Given the description of an element on the screen output the (x, y) to click on. 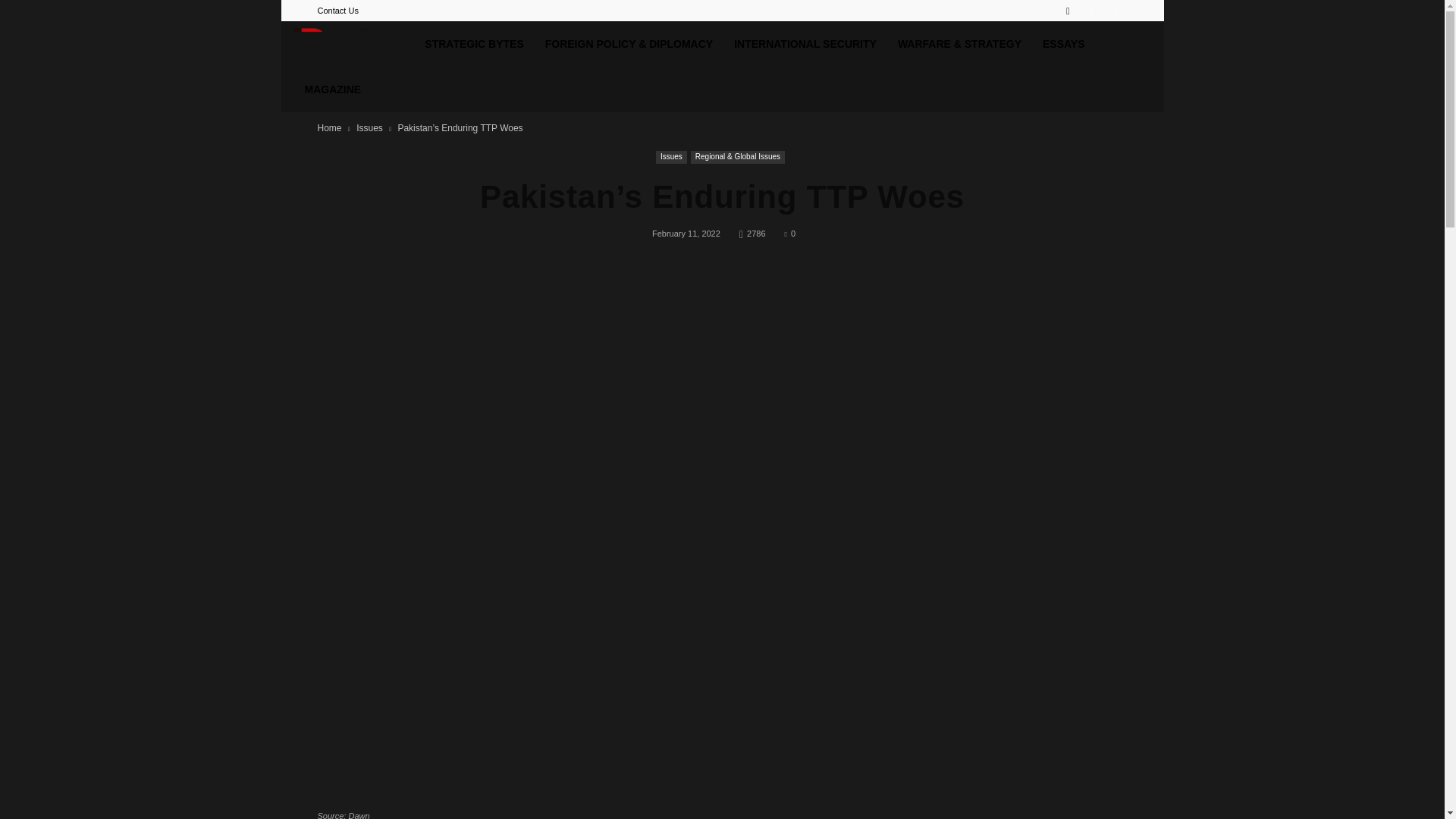
Pakistanpolitico (354, 47)
Search (1085, 64)
STRATEGIC BYTES (473, 43)
INTERNATIONAL SECURITY (804, 43)
Facebook (1090, 10)
Contact Us (337, 10)
Twitter (1114, 10)
